Given the description of an element on the screen output the (x, y) to click on. 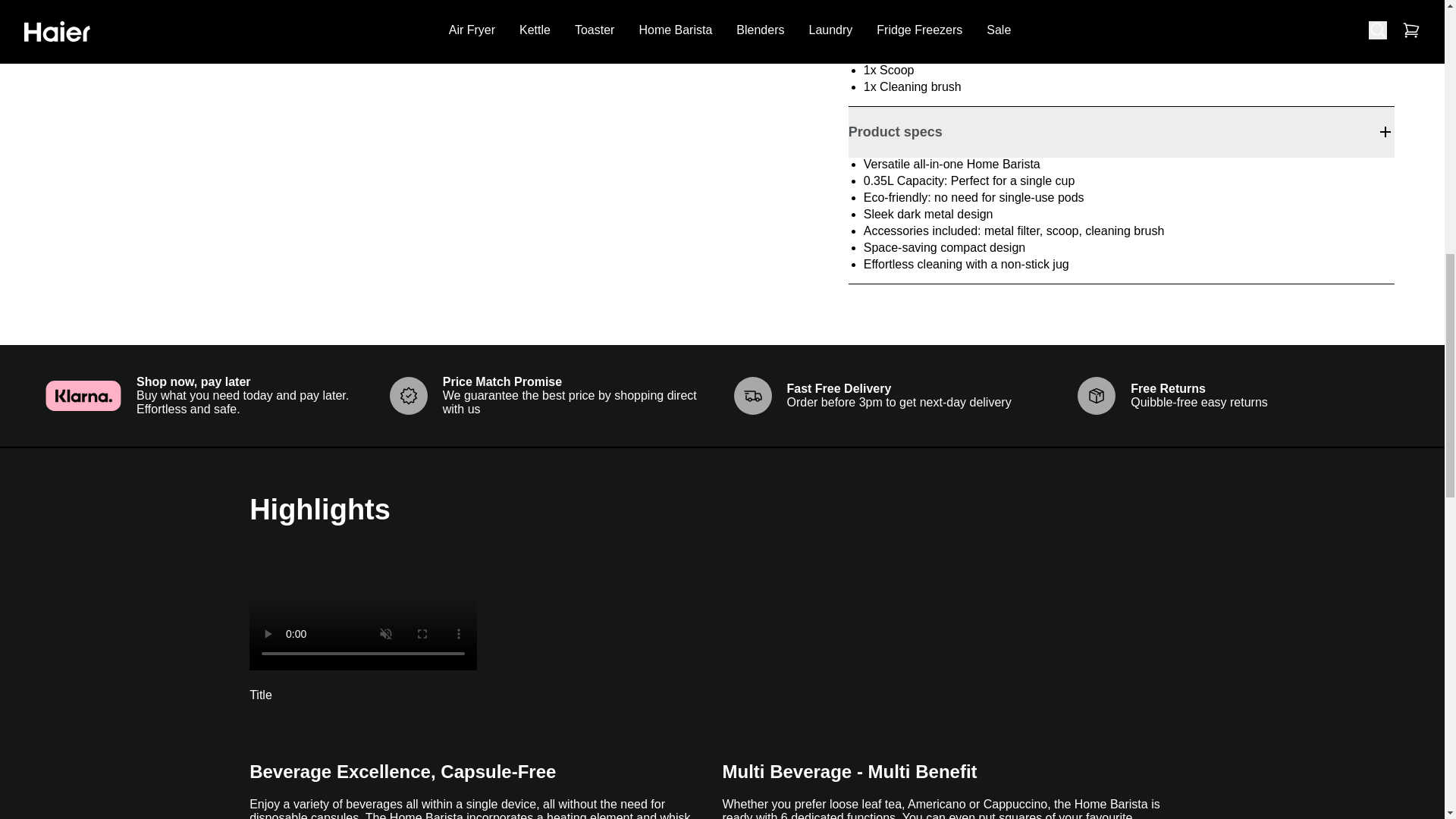
Product specs (1121, 132)
Please Click Here (1007, 4)
